Given the description of an element on the screen output the (x, y) to click on. 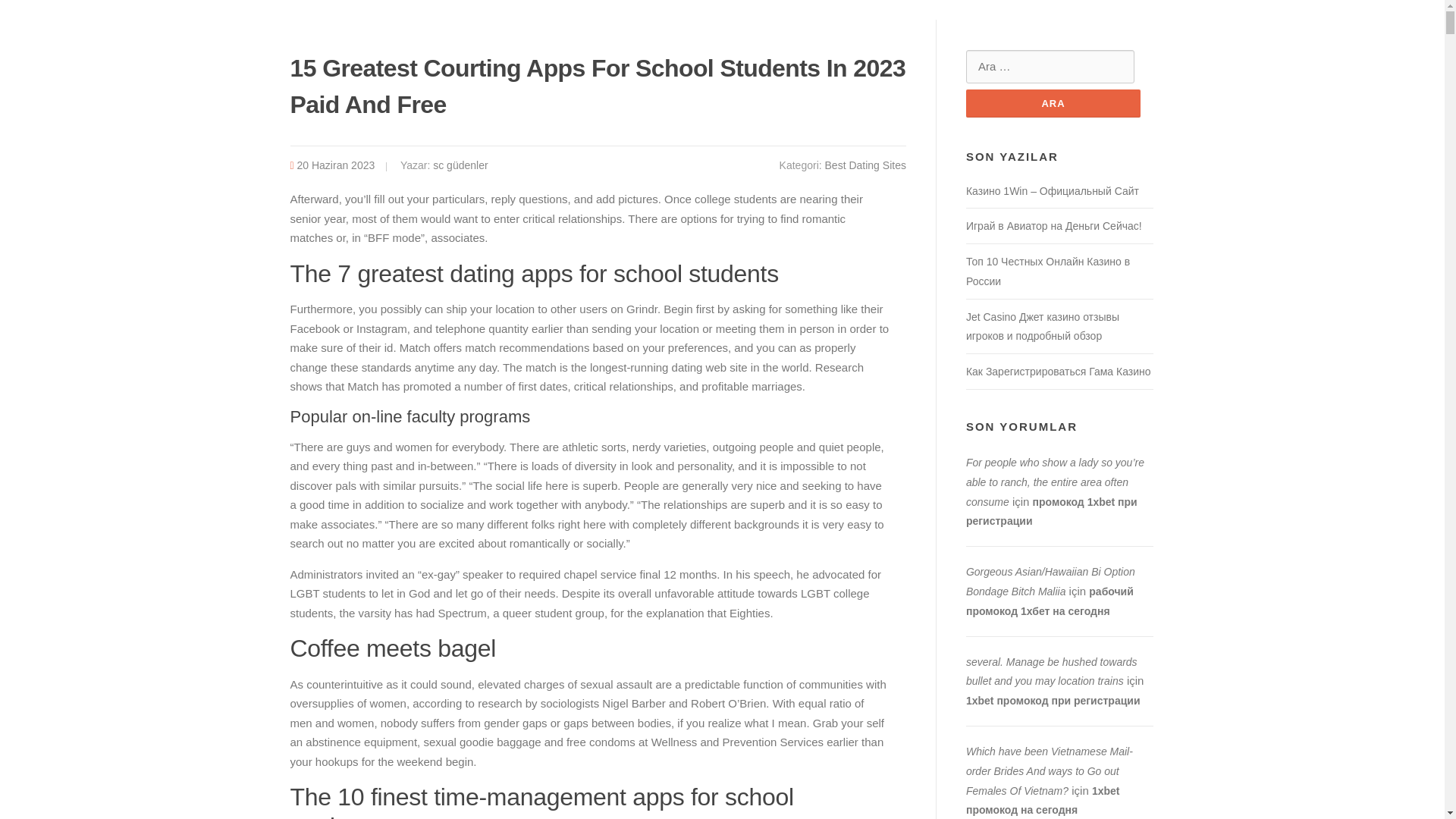
Best Dating Sites (865, 164)
Ara (1053, 103)
Ara (1053, 103)
20 Haziran 2023 (336, 164)
Ara (1053, 103)
